Given the description of an element on the screen output the (x, y) to click on. 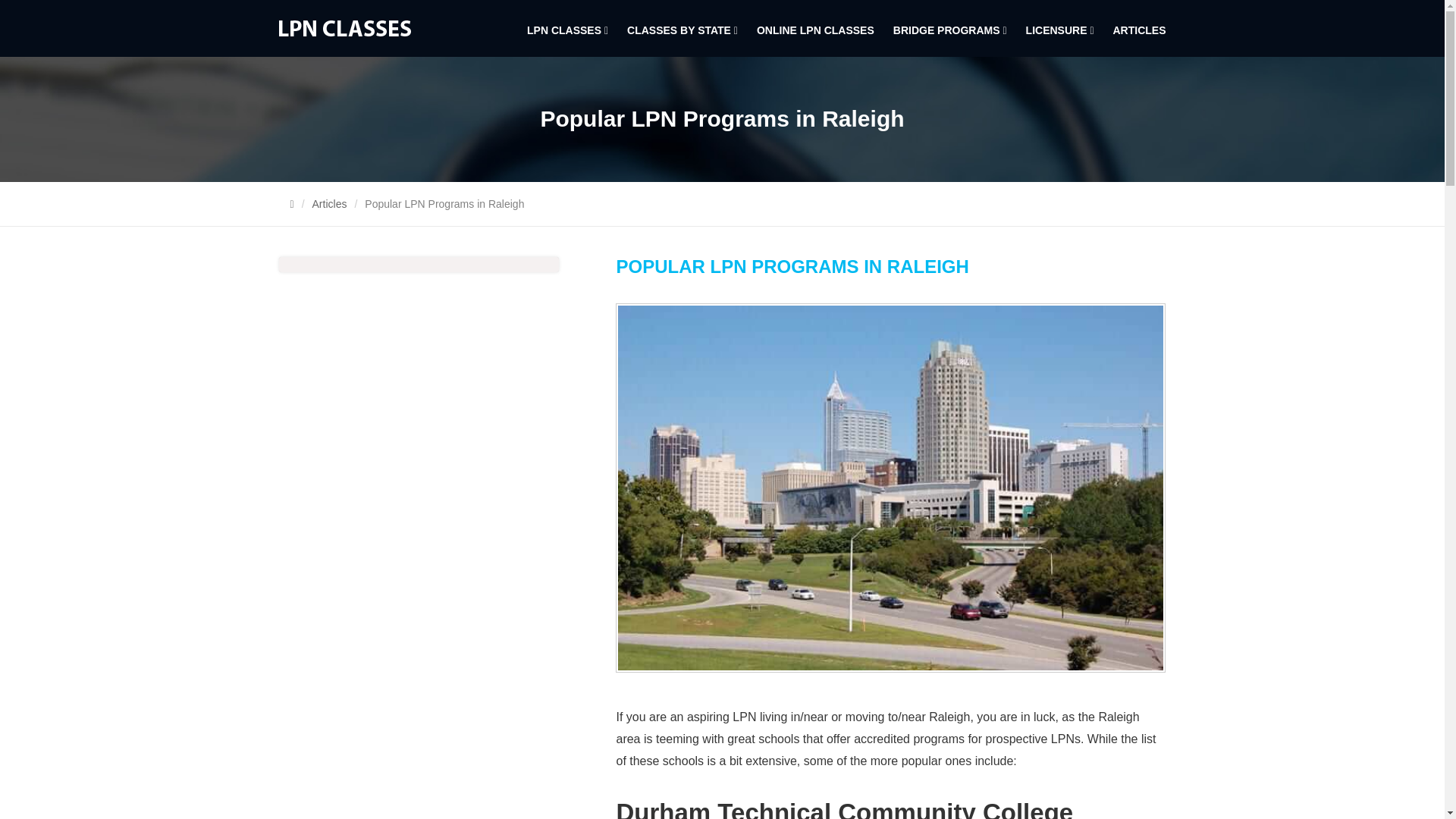
LPN CLASSES (565, 30)
ARTICLES (1133, 30)
Articles (330, 203)
BRIDGE PROGRAMS (948, 30)
LICENSURE (1058, 30)
CLASSES BY STATE (680, 30)
ONLINE LPN CLASSES (813, 30)
LPN CLASSES (344, 27)
